Given the description of an element on the screen output the (x, y) to click on. 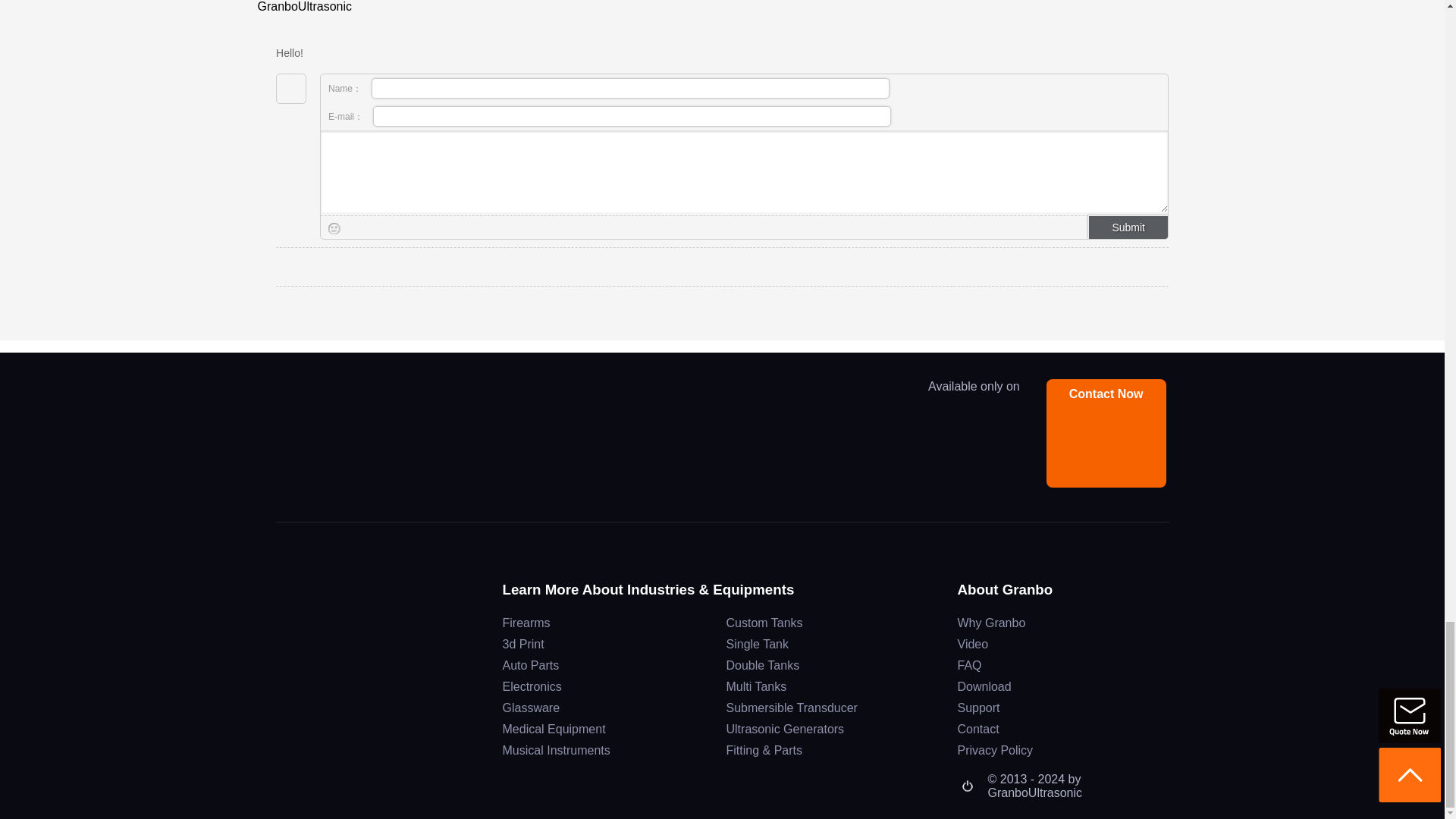
Submit (1127, 227)
Emoji (334, 227)
